Given the description of an element on the screen output the (x, y) to click on. 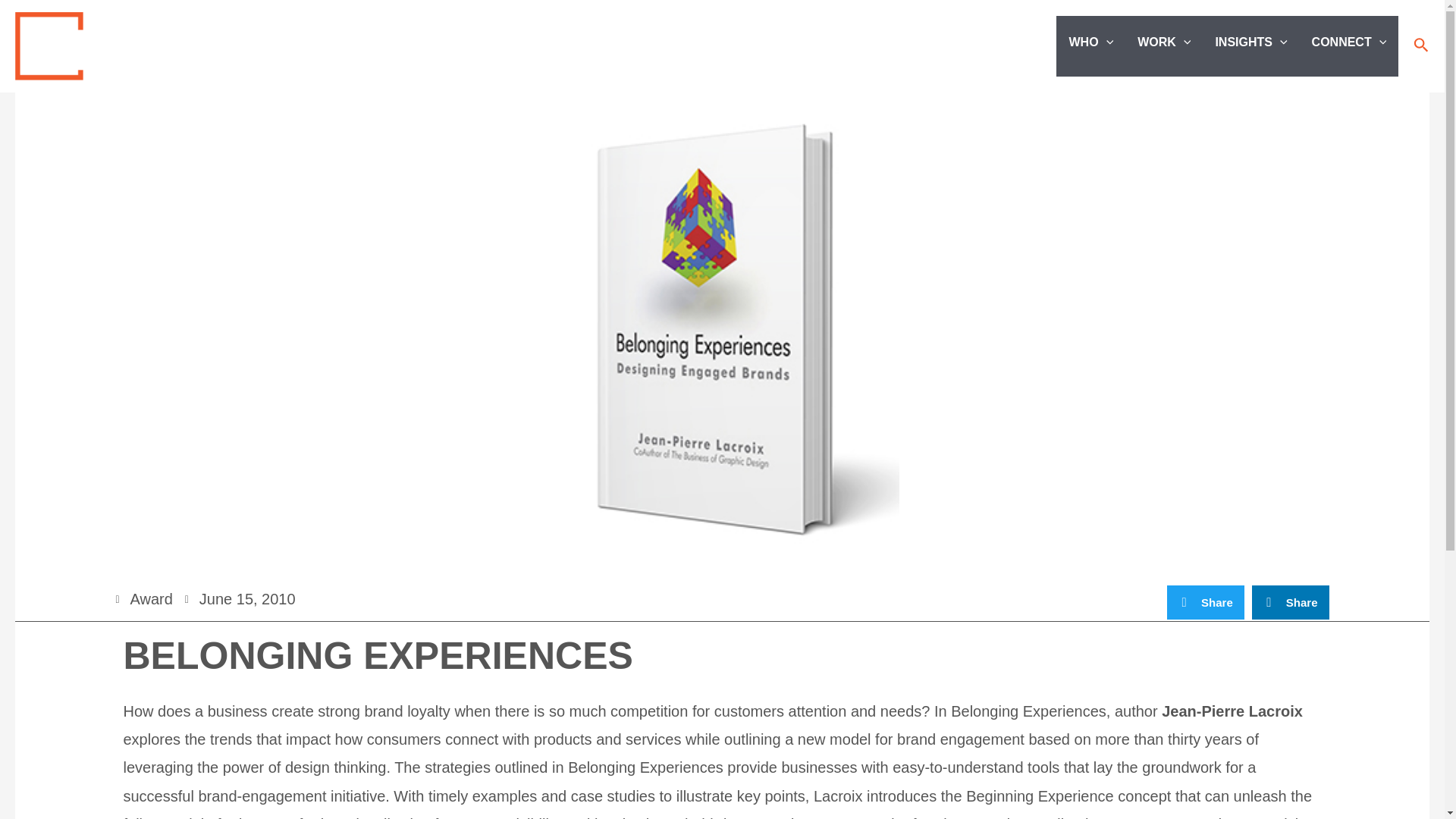
INSIGHTS (1250, 41)
WORK (1163, 41)
CONNECT (1349, 41)
WHO (1091, 41)
